Given the description of an element on the screen output the (x, y) to click on. 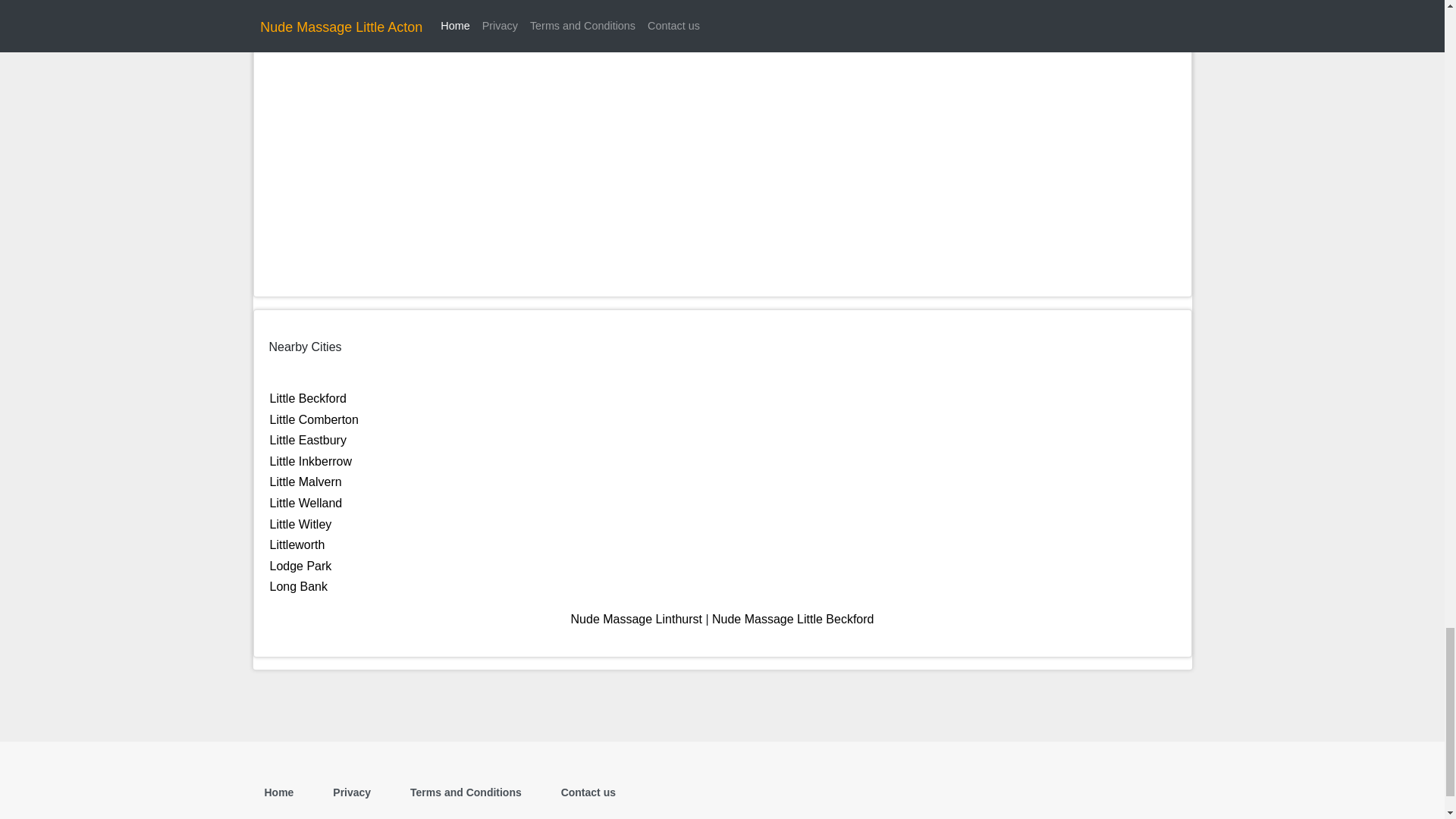
Nude Massage Linthurst (635, 618)
Littleworth (296, 544)
Long Bank (299, 585)
Lodge Park (300, 565)
Little Welland (305, 502)
Nude Massage Little Beckford (792, 618)
Little Malvern (305, 481)
Little Beckford (307, 398)
Little Inkberrow (310, 461)
Little Comberton (313, 419)
Little Eastbury (307, 440)
Little Witley (300, 523)
